Given the description of an element on the screen output the (x, y) to click on. 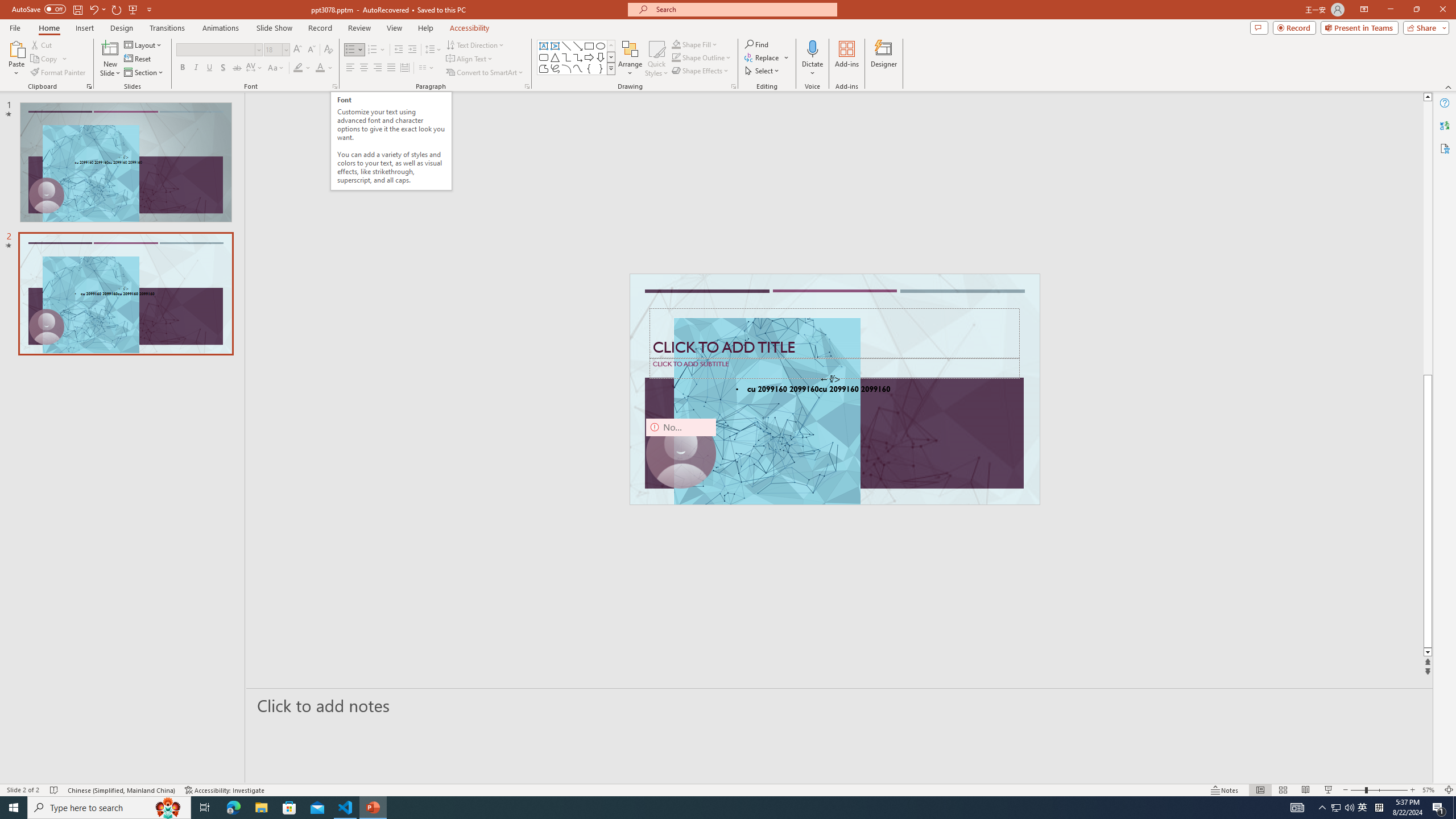
Oval (600, 45)
Format Object... (733, 85)
Distributed (404, 67)
Decrease Indent (398, 49)
Comments (1259, 27)
Arc (566, 68)
Paste (16, 48)
Paste (16, 58)
Customize Quick Access Toolbar (149, 9)
Row Down (611, 56)
Shape Effects (700, 69)
Shape Fill (694, 44)
Justify (390, 67)
Shape Outline (701, 56)
New Slide (110, 58)
